Given the description of an element on the screen output the (x, y) to click on. 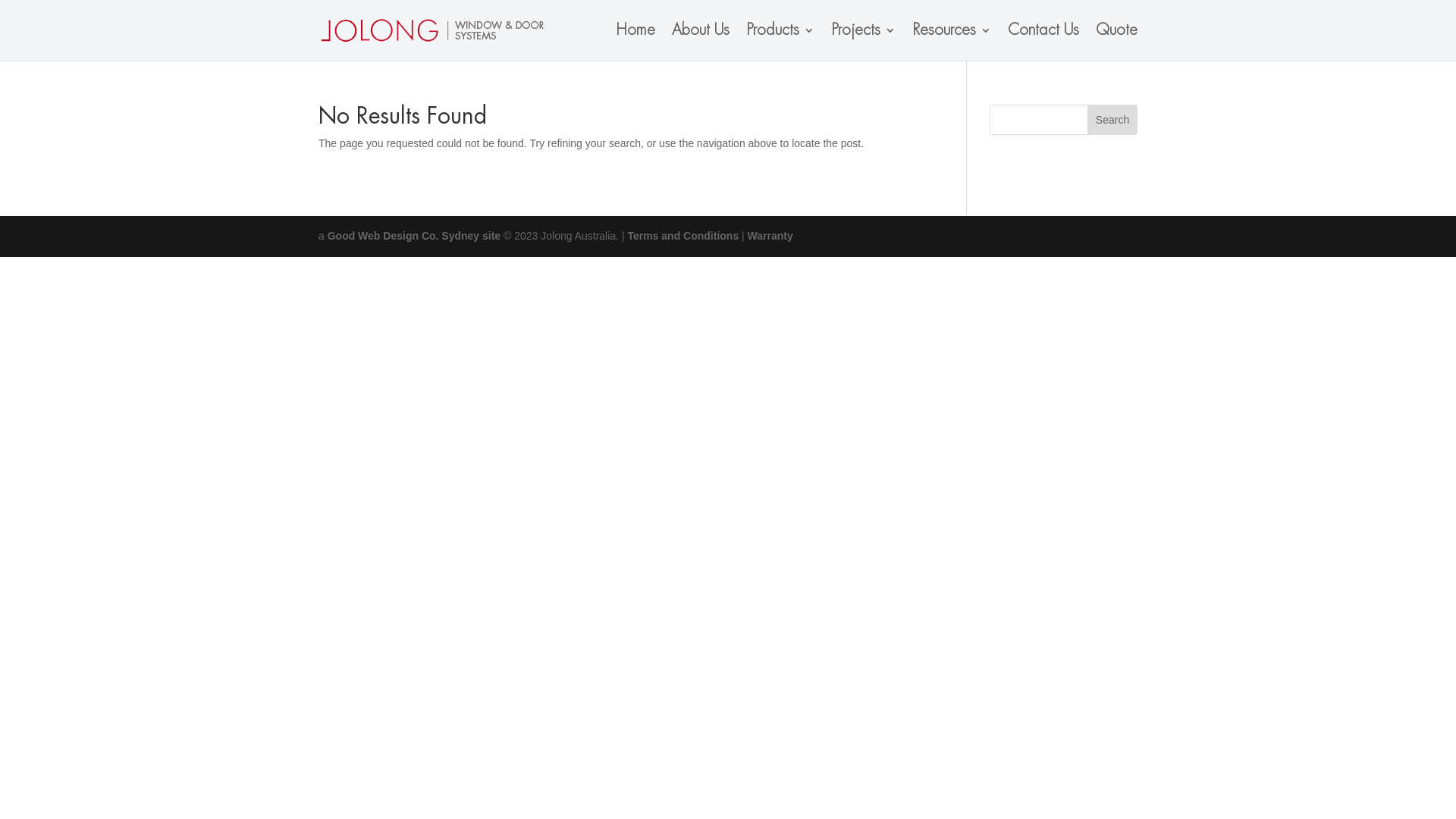
Warranty Element type: text (770, 235)
Contact Us Element type: text (1043, 42)
Resources Element type: text (951, 42)
Terms and Conditions Element type: text (682, 235)
Projects Element type: text (863, 42)
Products Element type: text (780, 42)
Home Element type: text (635, 42)
Quote Element type: text (1116, 42)
About Us Element type: text (700, 42)
Good Web Design Co. Sydney site Element type: text (413, 235)
Search Element type: text (1112, 119)
